Given the description of an element on the screen output the (x, y) to click on. 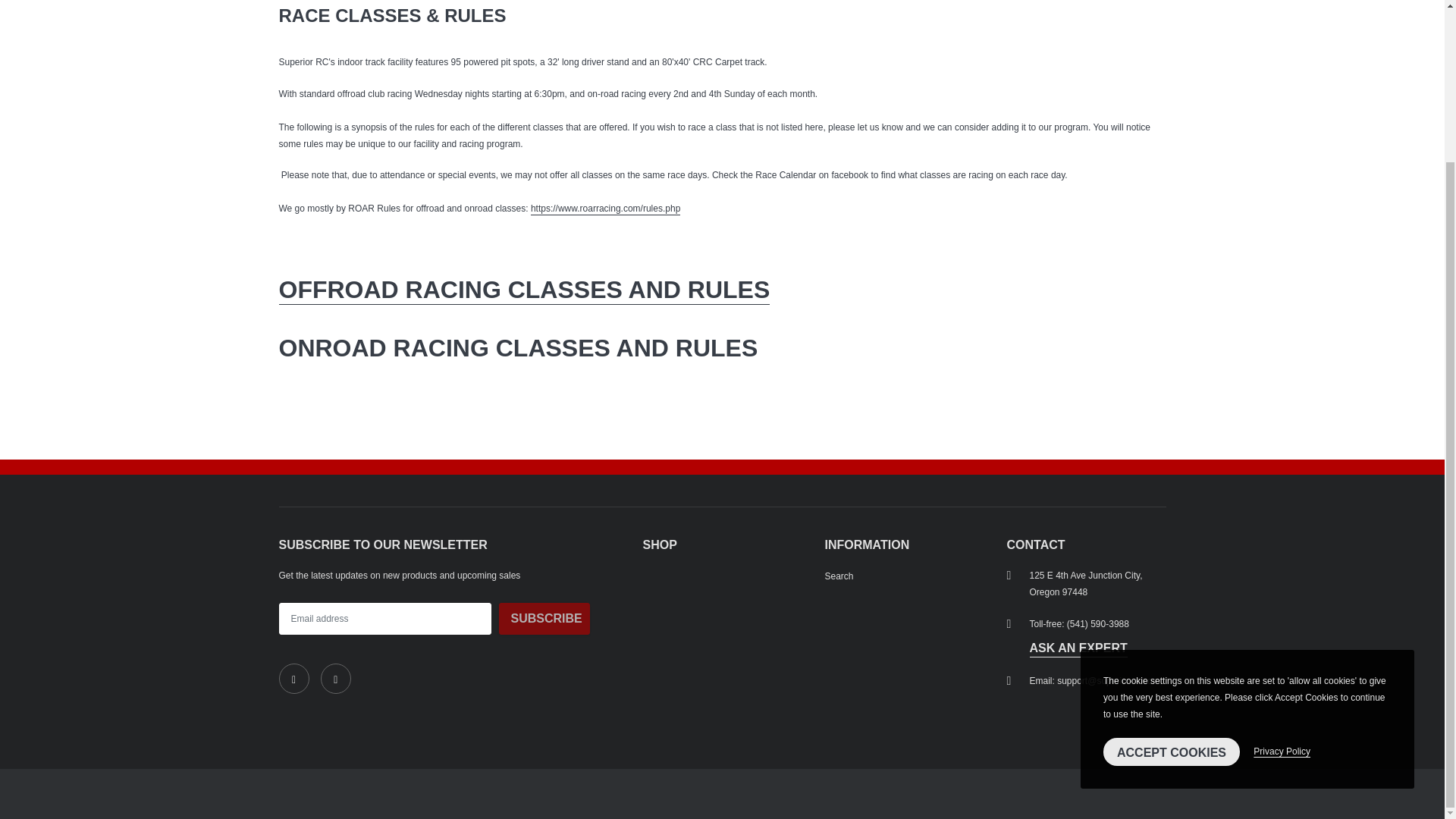
Instagram (335, 678)
Subscribe (544, 618)
Facebook (293, 678)
